Given the description of an element on the screen output the (x, y) to click on. 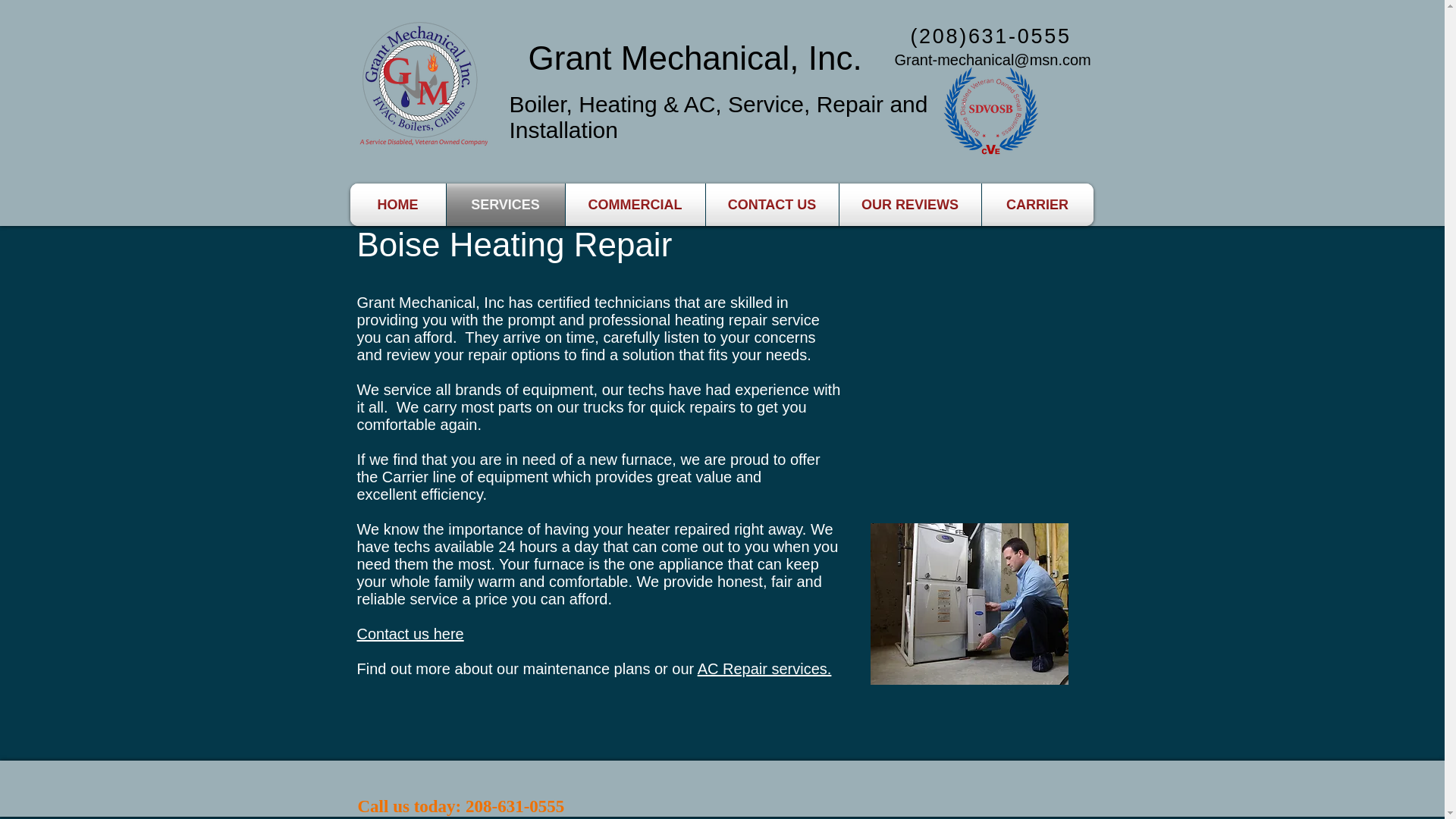
CONTACT US (771, 204)
HOME (397, 204)
SERVICES (504, 204)
AC Repair services. (764, 668)
Contact us here (409, 633)
COMMERCIAL (635, 204)
OUR REVIEWS (908, 204)
Facebook Like (624, 788)
CARRIER (1037, 204)
